Given the description of an element on the screen output the (x, y) to click on. 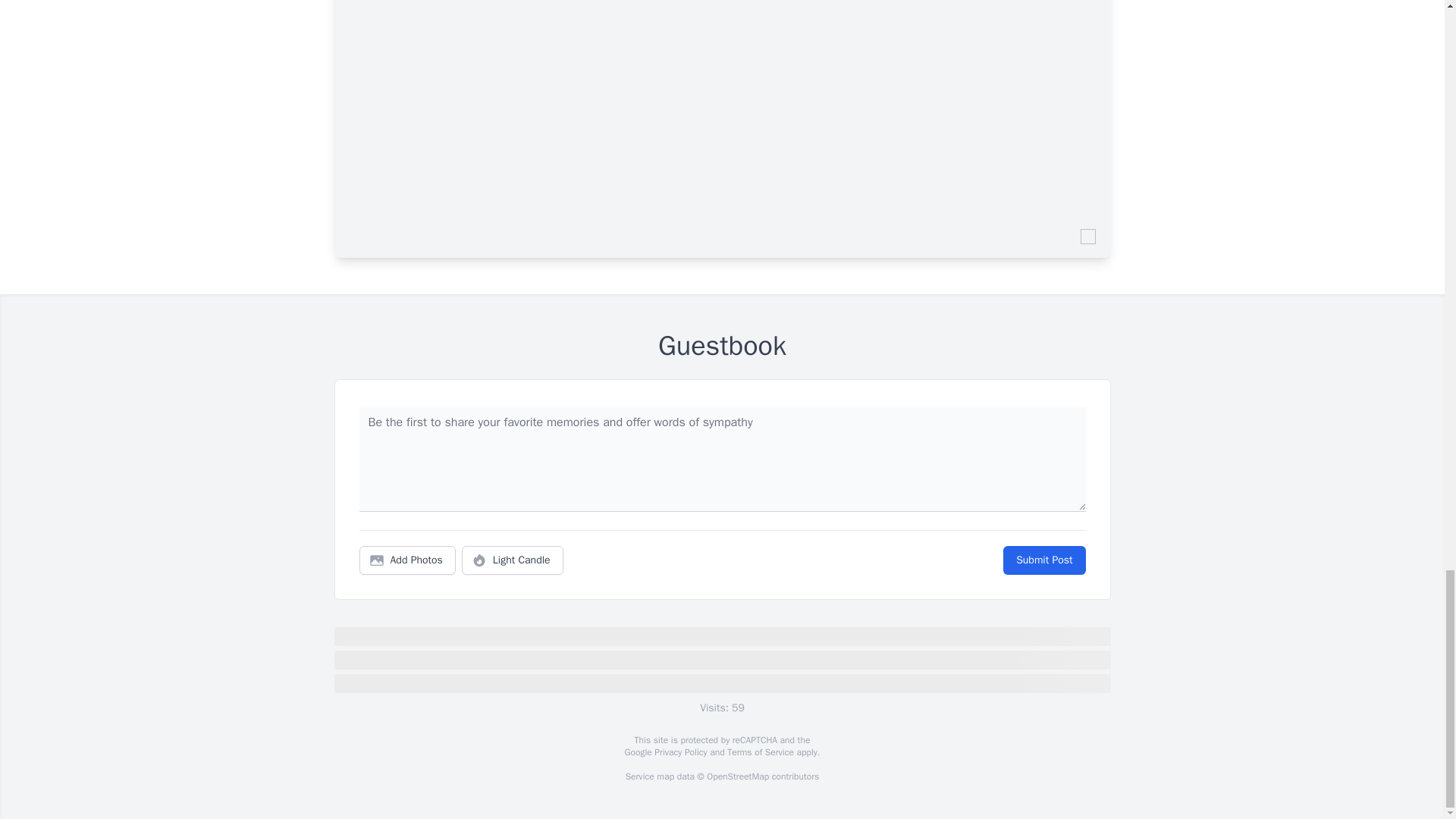
Terms of Service (759, 752)
Add Photos (407, 560)
OpenStreetMap (737, 776)
Submit Post (1043, 560)
Light Candle (512, 560)
Privacy Policy (679, 752)
